Given the description of an element on the screen output the (x, y) to click on. 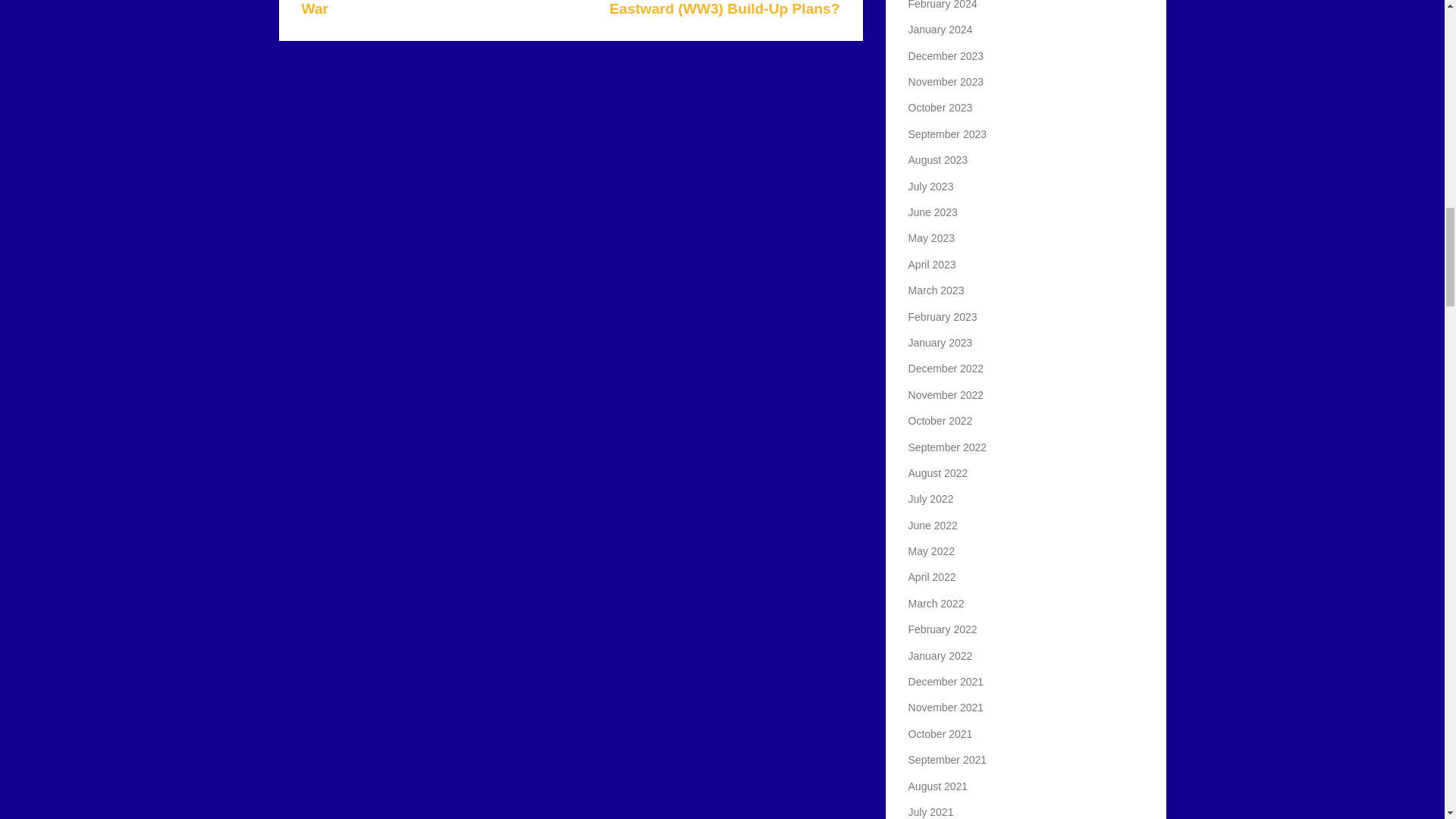
CrossTalk: Wars And Rumors of War (411, 8)
